Given the description of an element on the screen output the (x, y) to click on. 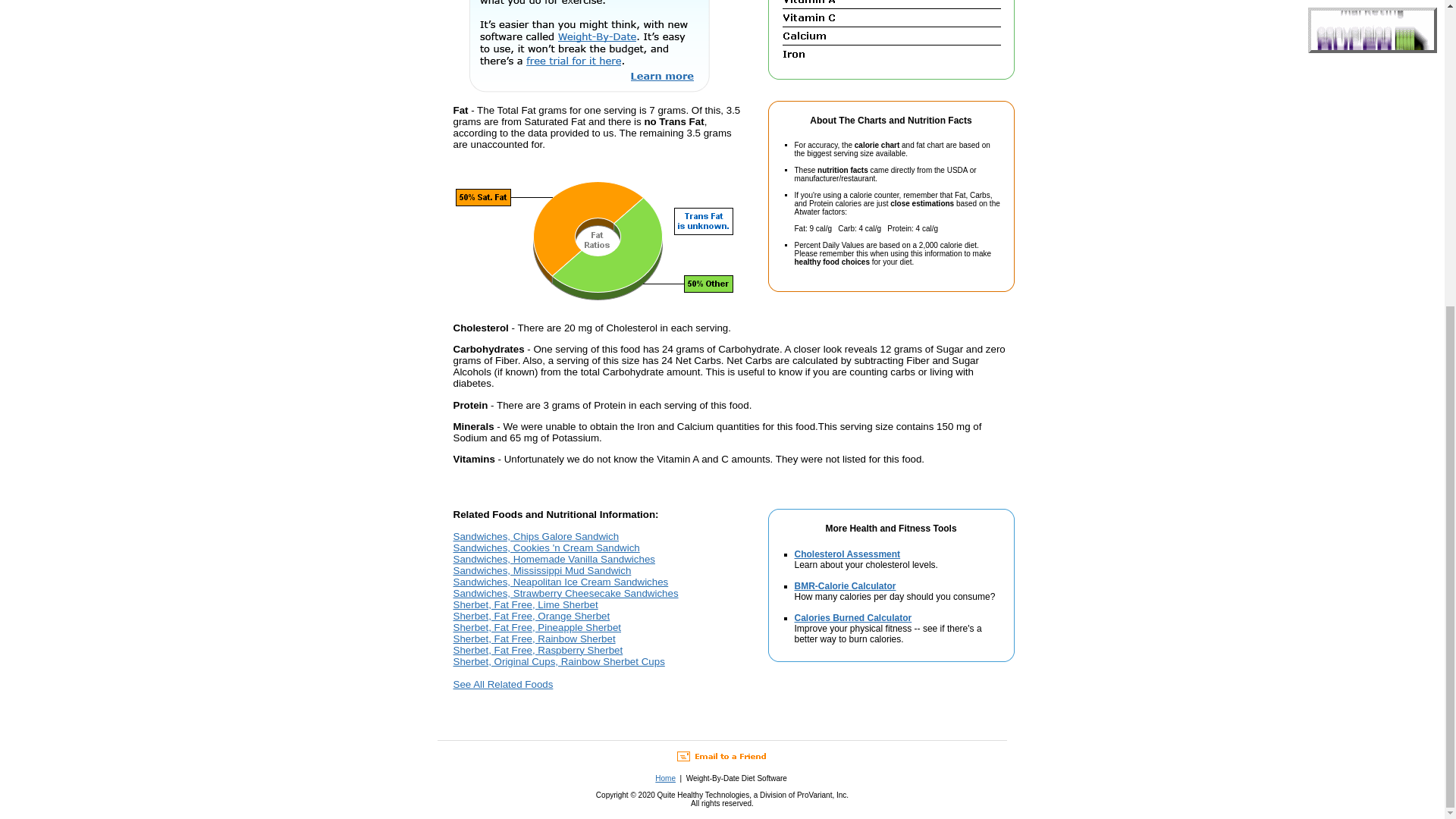
Sherbet, Fat Free, Pineapple Sherbet (536, 627)
See All Related Foods (502, 684)
Sandwiches, Cookies 'n Cream Sandwich (546, 547)
Sherbet, Fat Free, Orange Sherbet (531, 615)
Sherbet, Fat Free, Lime Sherbet (525, 604)
Sherbet, Original Cups, Rainbow Sherbet Cups (558, 661)
Sandwiches, Neapolitan Ice Cream Sandwiches (560, 582)
Sandwiches, Strawberry Cheesecake Sandwiches (565, 593)
Sandwiches, Homemade Vanilla Sandwiches (553, 559)
Home (665, 777)
